Given the description of an element on the screen output the (x, y) to click on. 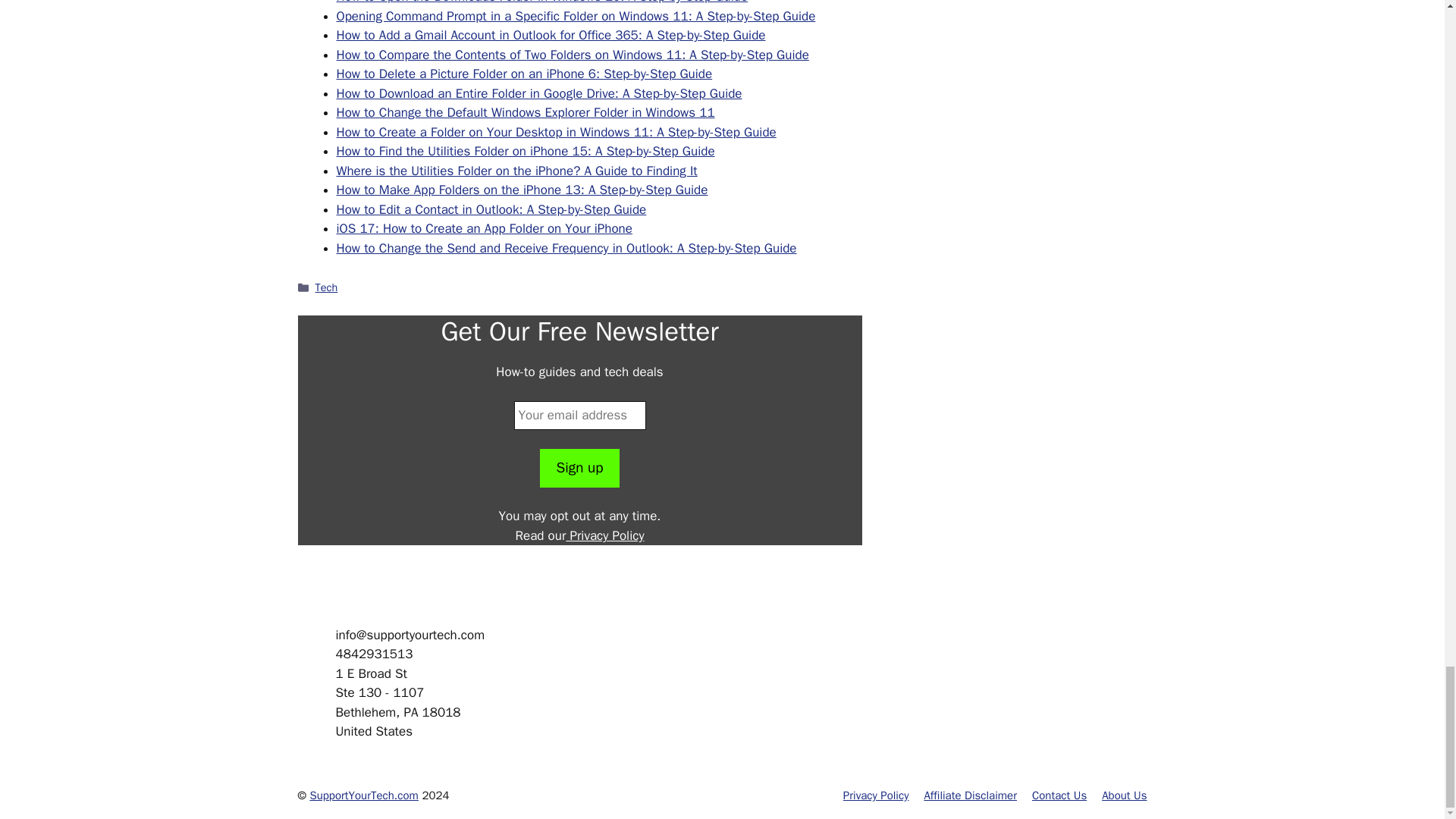
Tech (326, 287)
Sign up (579, 467)
iOS 17: How to Create an App Folder on Your iPhone (483, 228)
How to Edit a Contact in Outlook: A Step-by-Step Guide (491, 209)
